Given the description of an element on the screen output the (x, y) to click on. 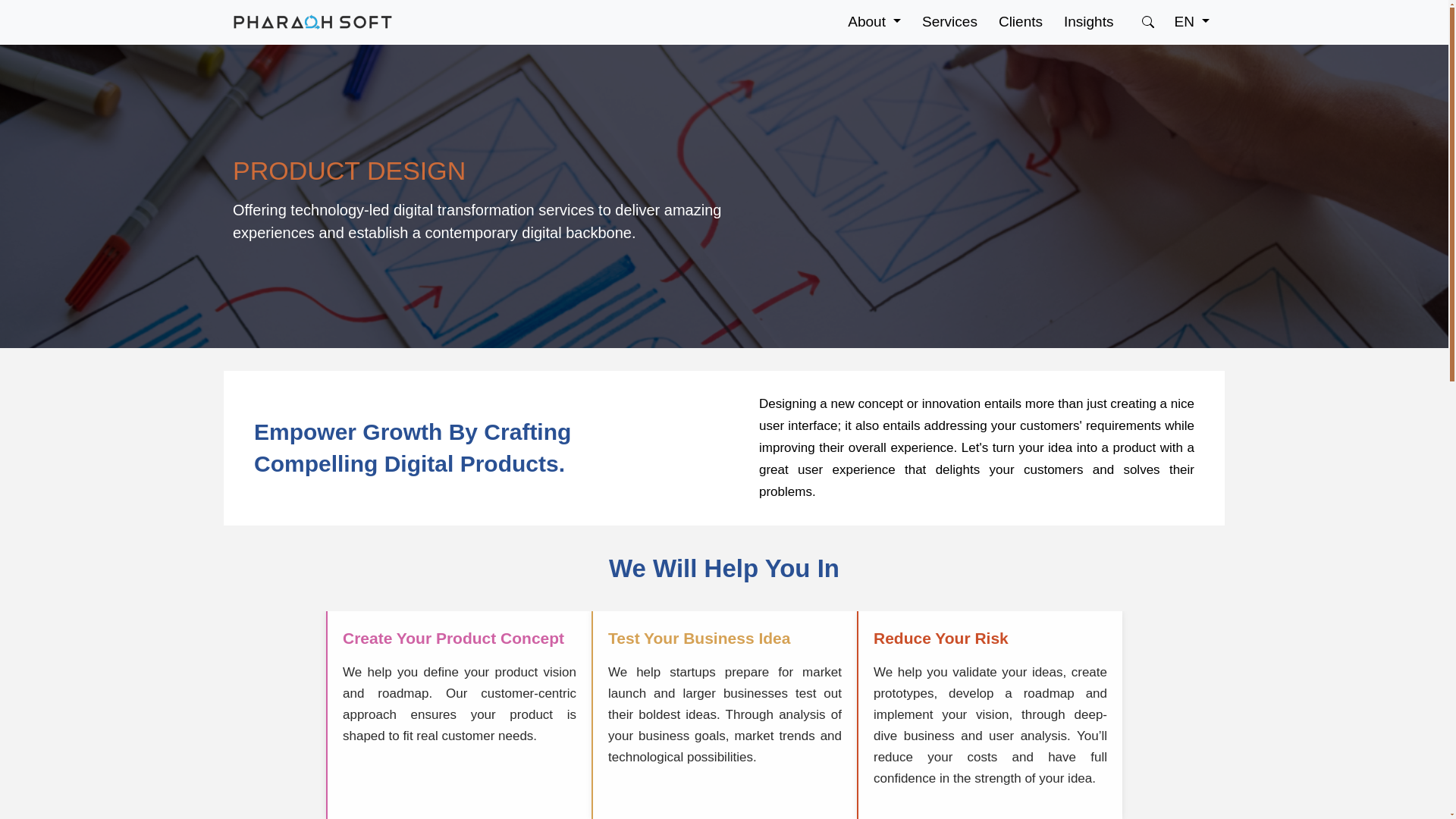
Clients (1020, 20)
Insights (1088, 20)
About (874, 20)
Services (949, 20)
